Given the description of an element on the screen output the (x, y) to click on. 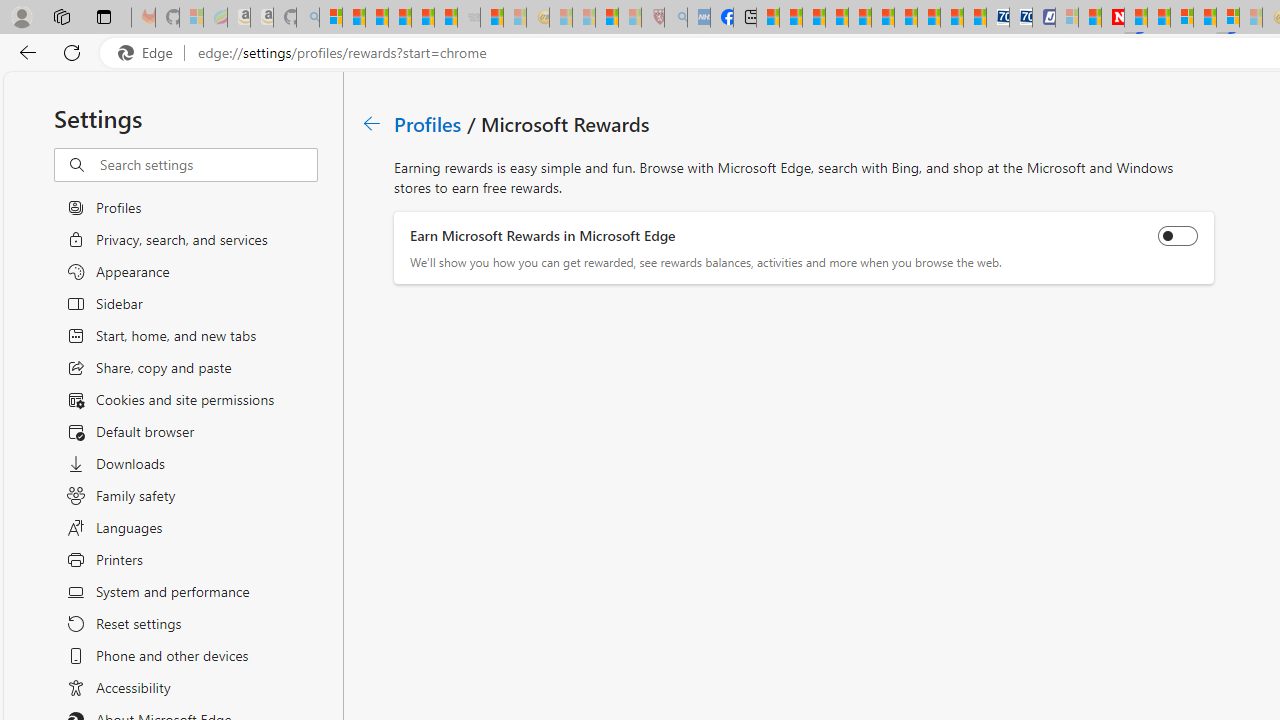
Search settings (207, 165)
Class: c01179 (371, 123)
Combat Siege - Sleeping (468, 17)
